Given the description of an element on the screen output the (x, y) to click on. 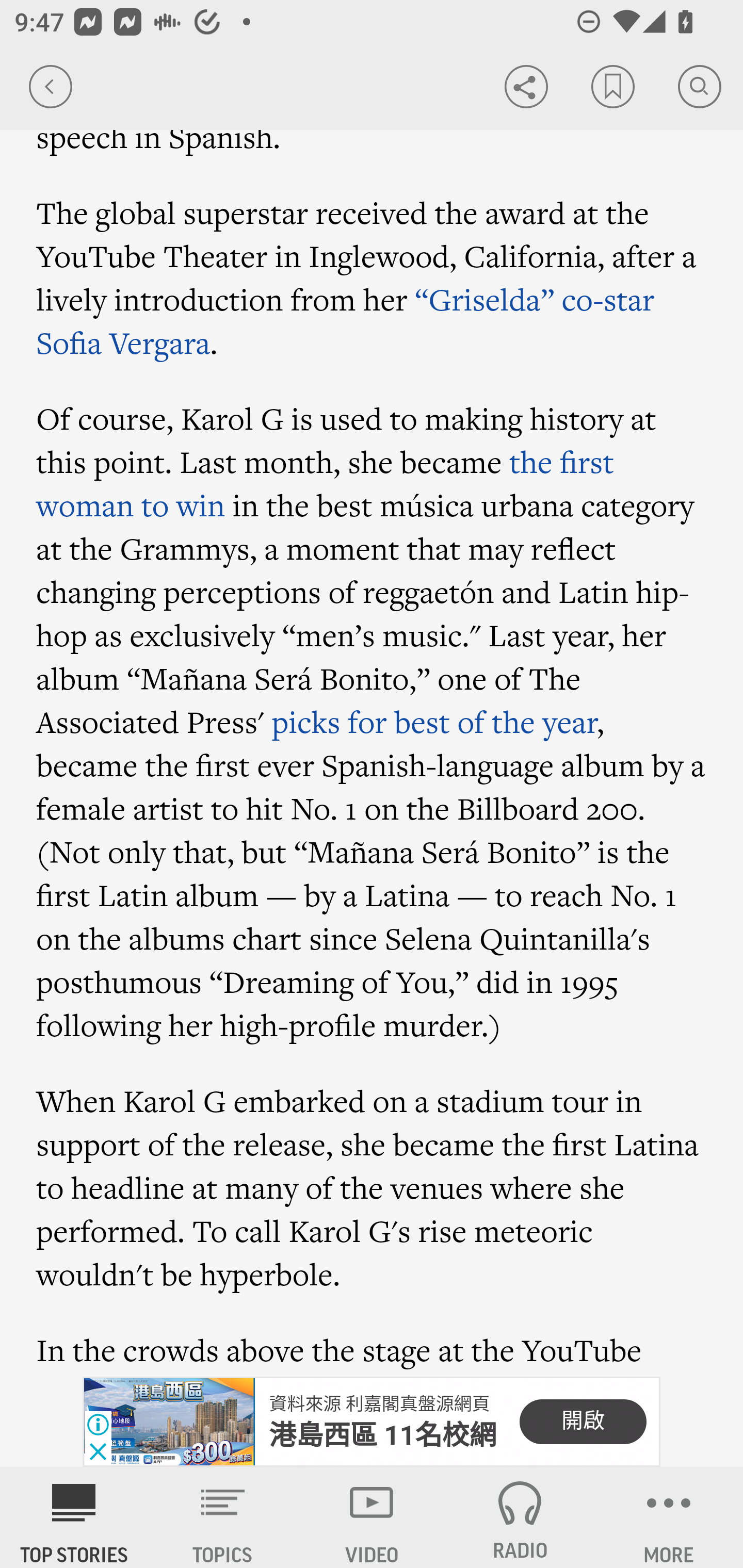
“Griselda” co-star Sofia Vergara (345, 321)
the first woman to win (324, 483)
picks for best of the year (434, 721)
資料來源 利嘉閣真盤源網頁 (379, 1403)
開啟 (582, 1421)
港島西區 11名校網 (382, 1434)
AP News TOP STORIES (74, 1517)
TOPICS (222, 1517)
VIDEO (371, 1517)
RADIO (519, 1517)
MORE (668, 1517)
